Given the description of an element on the screen output the (x, y) to click on. 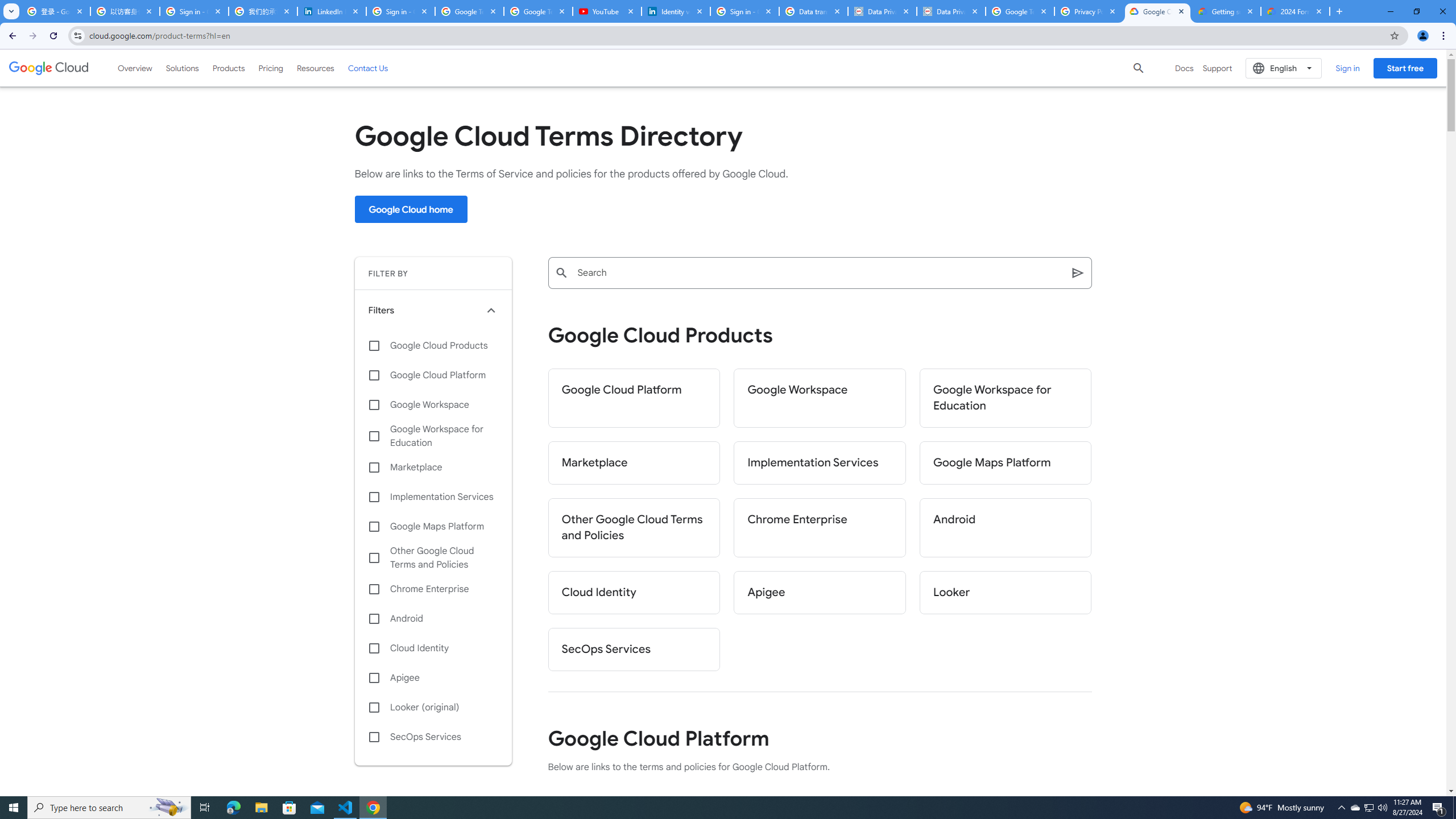
Chrome (1445, 35)
Sign in - Google Accounts (744, 11)
YouTube (606, 11)
Chrome Enterprise (432, 589)
Apigee (819, 592)
Start free (1405, 67)
Forward (32, 35)
New Tab (1338, 11)
Google Cloud Platform (432, 374)
Implementation Services (432, 496)
Android (432, 618)
Minimize (1390, 11)
